Given the description of an element on the screen output the (x, y) to click on. 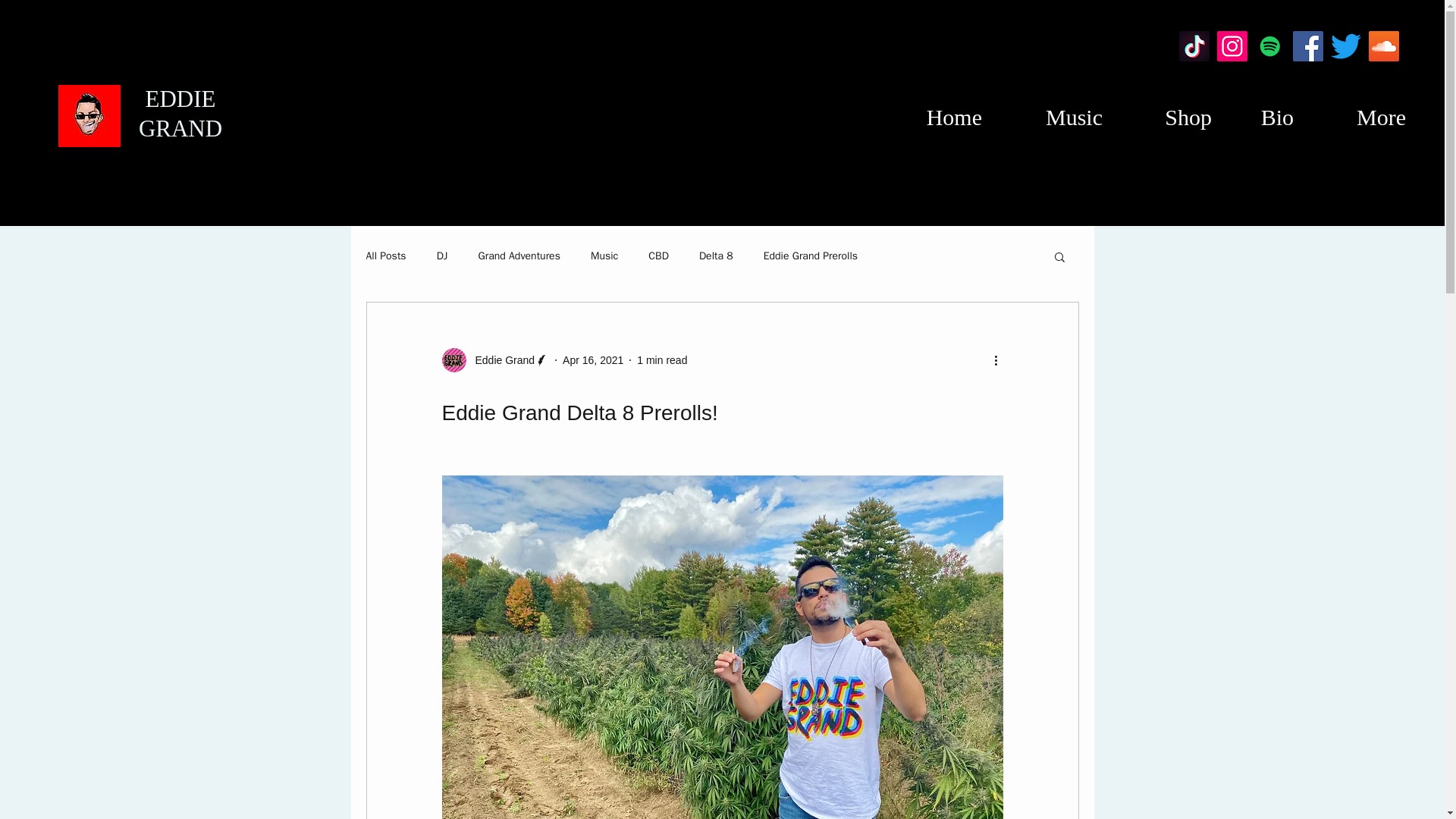
Apr 16, 2021 (592, 358)
Eddie Grand (499, 359)
Shop (1164, 112)
Bio (1260, 112)
CBD (657, 255)
Music (1049, 112)
Grand Adventures (518, 255)
Music (604, 255)
Eddie Grand (494, 360)
Delta 8 (715, 255)
Eddie Grand Prerolls (809, 255)
1 min read (662, 358)
Home (933, 112)
All Posts (385, 255)
